Given the description of an element on the screen output the (x, y) to click on. 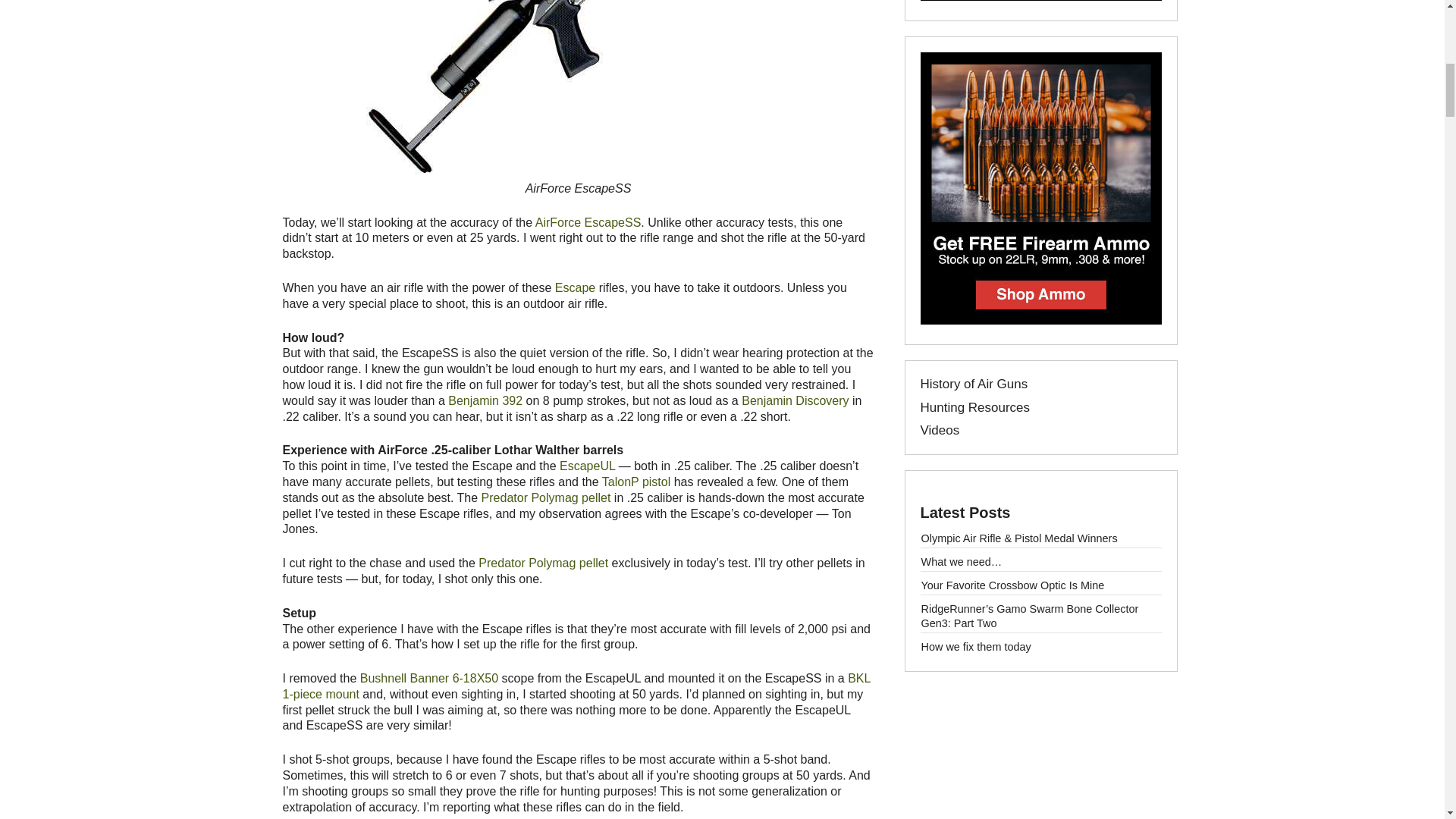
EscapeUL (586, 465)
View the Best BB Guns (1040, 2)
Firearm Ammunition (1040, 319)
TalonP pistol (635, 481)
Benjamin 392 (485, 400)
Benjamin Discovery (794, 400)
Escape (574, 287)
Scroll back to top (1400, 725)
AirForce EscapeSS (588, 222)
